Given the description of an element on the screen output the (x, y) to click on. 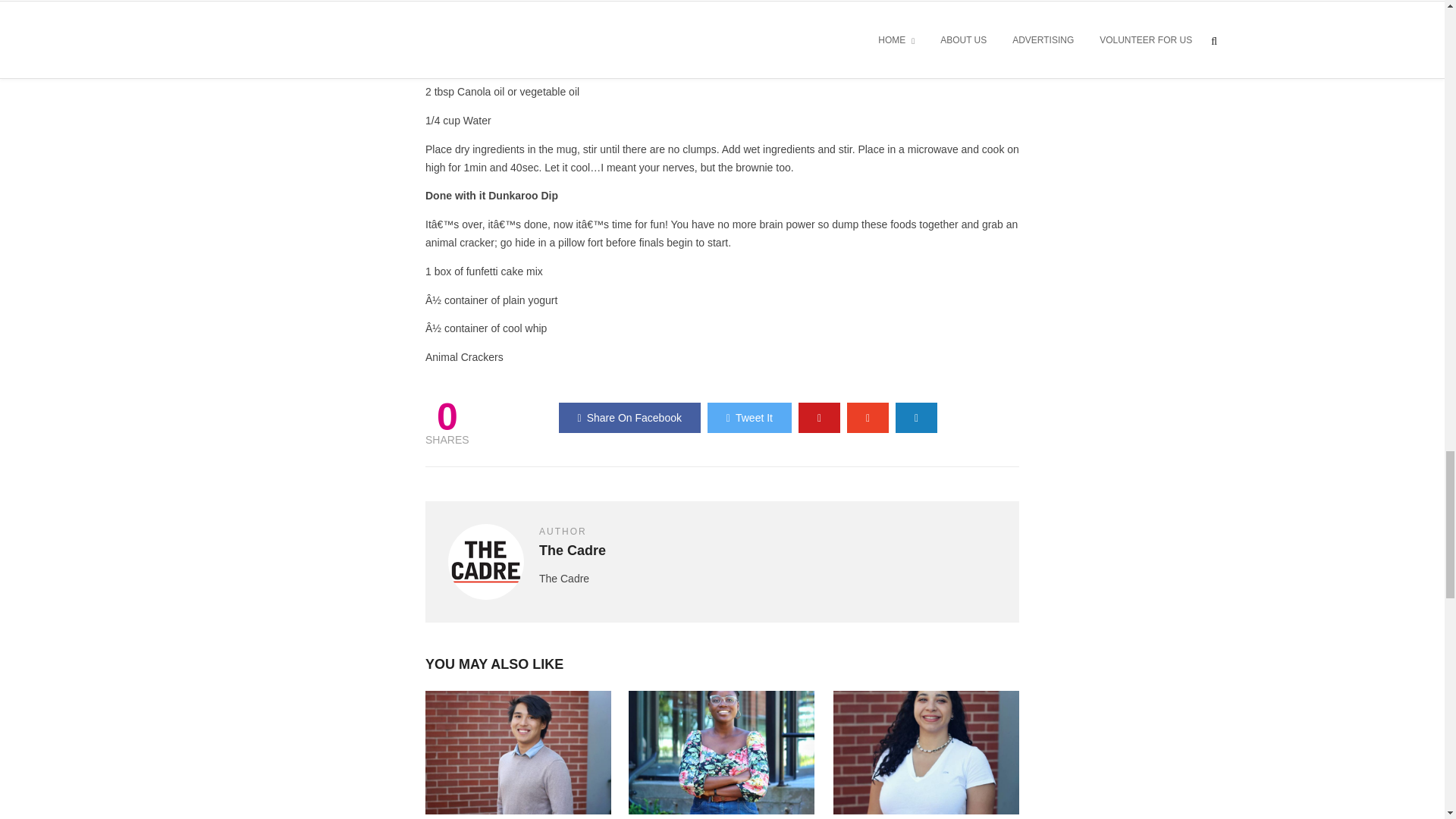
Share On Facebook (629, 417)
Share On Facebook (629, 417)
Share by Email (916, 417)
Share On Twitter (749, 417)
Tweet It (749, 417)
Share On Pinterest (818, 417)
